Given the description of an element on the screen output the (x, y) to click on. 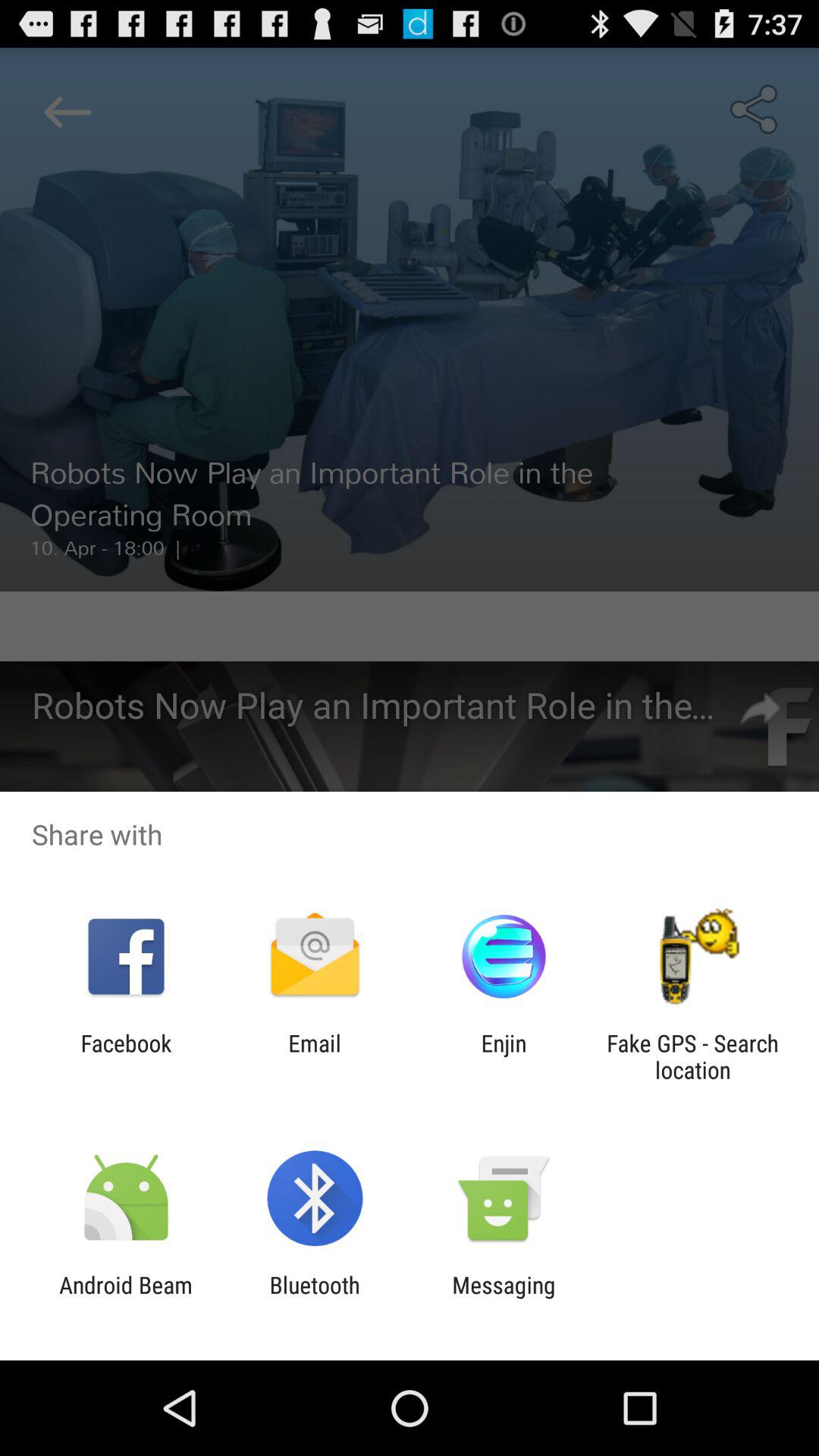
jump to email app (314, 1056)
